Given the description of an element on the screen output the (x, y) to click on. 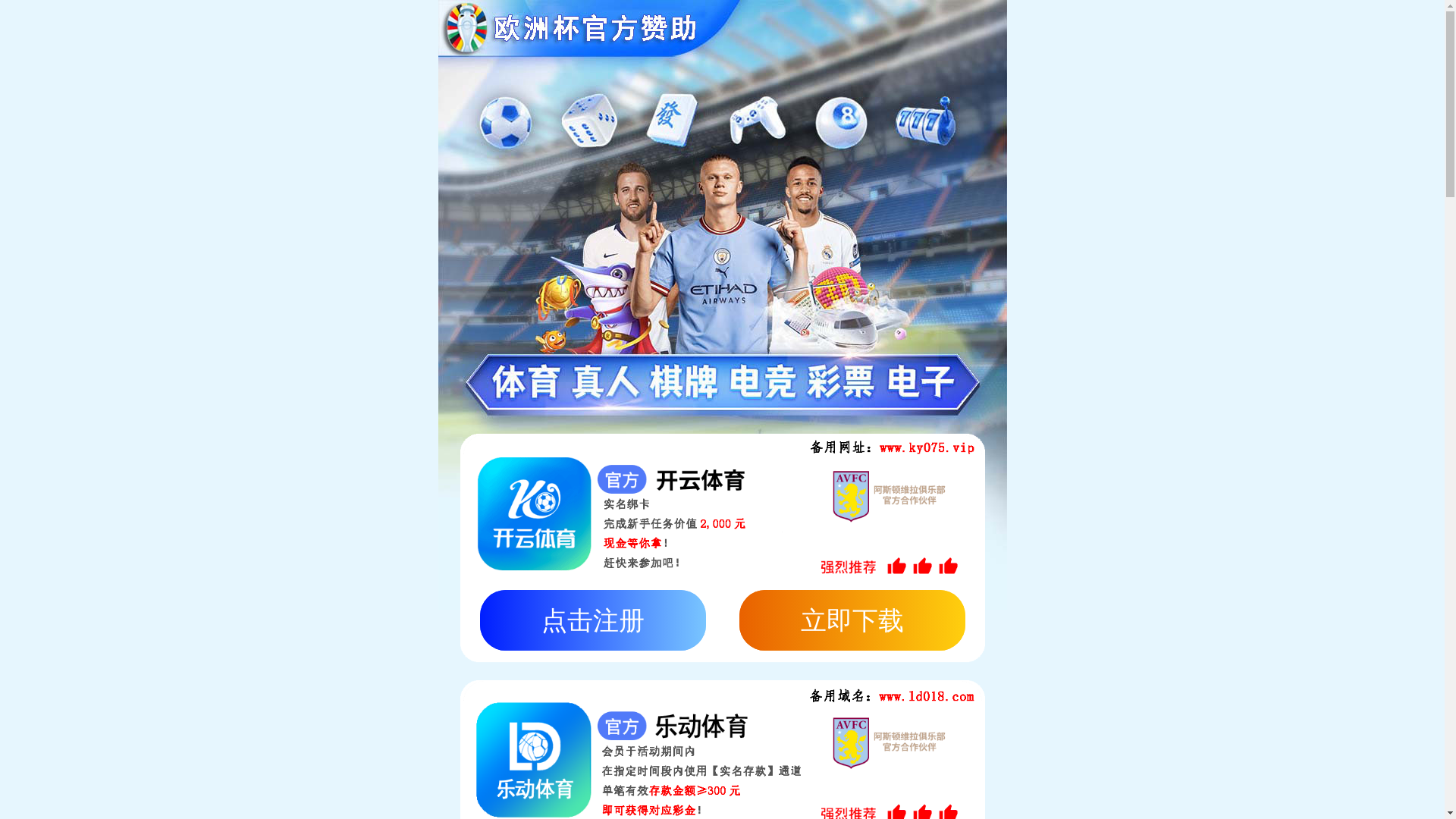
Home (897, 31)
Contact Us (1190, 31)
Company Profile (208, 365)
About Us (956, 31)
Products (1022, 31)
News (1128, 31)
Development History (461, 365)
Cases (1079, 31)
Marketing Network (329, 365)
